Given the description of an element on the screen output the (x, y) to click on. 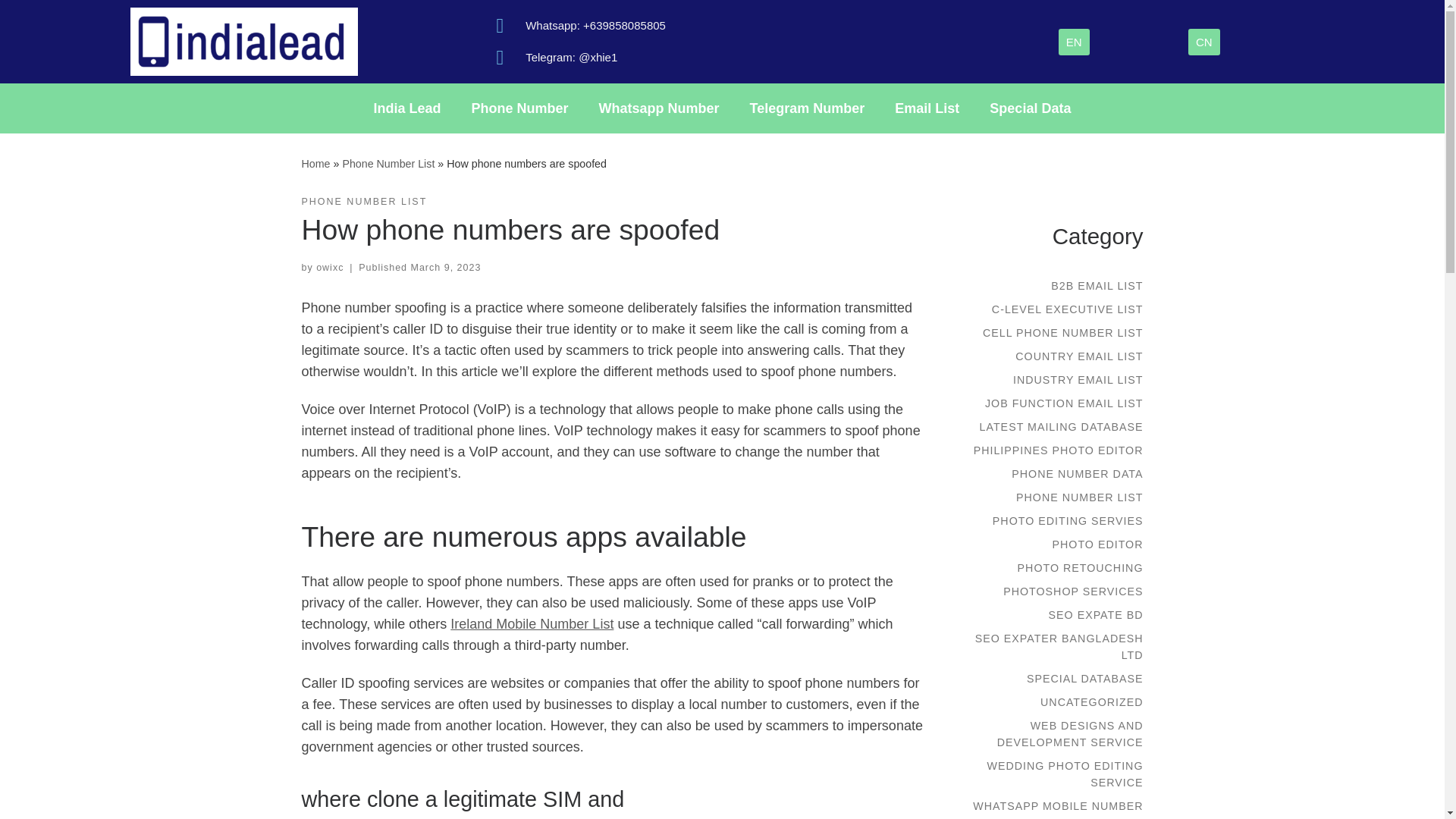
PHONE NUMBER LIST (364, 201)
Email List (926, 108)
Phone Number List (387, 163)
Telegram Number (807, 108)
View all posts by owixc (329, 267)
March 9, 2023 (445, 267)
owixc (329, 267)
India Lead (315, 163)
Ireland Mobile Number List (530, 623)
India Lead (407, 108)
